Given the description of an element on the screen output the (x, y) to click on. 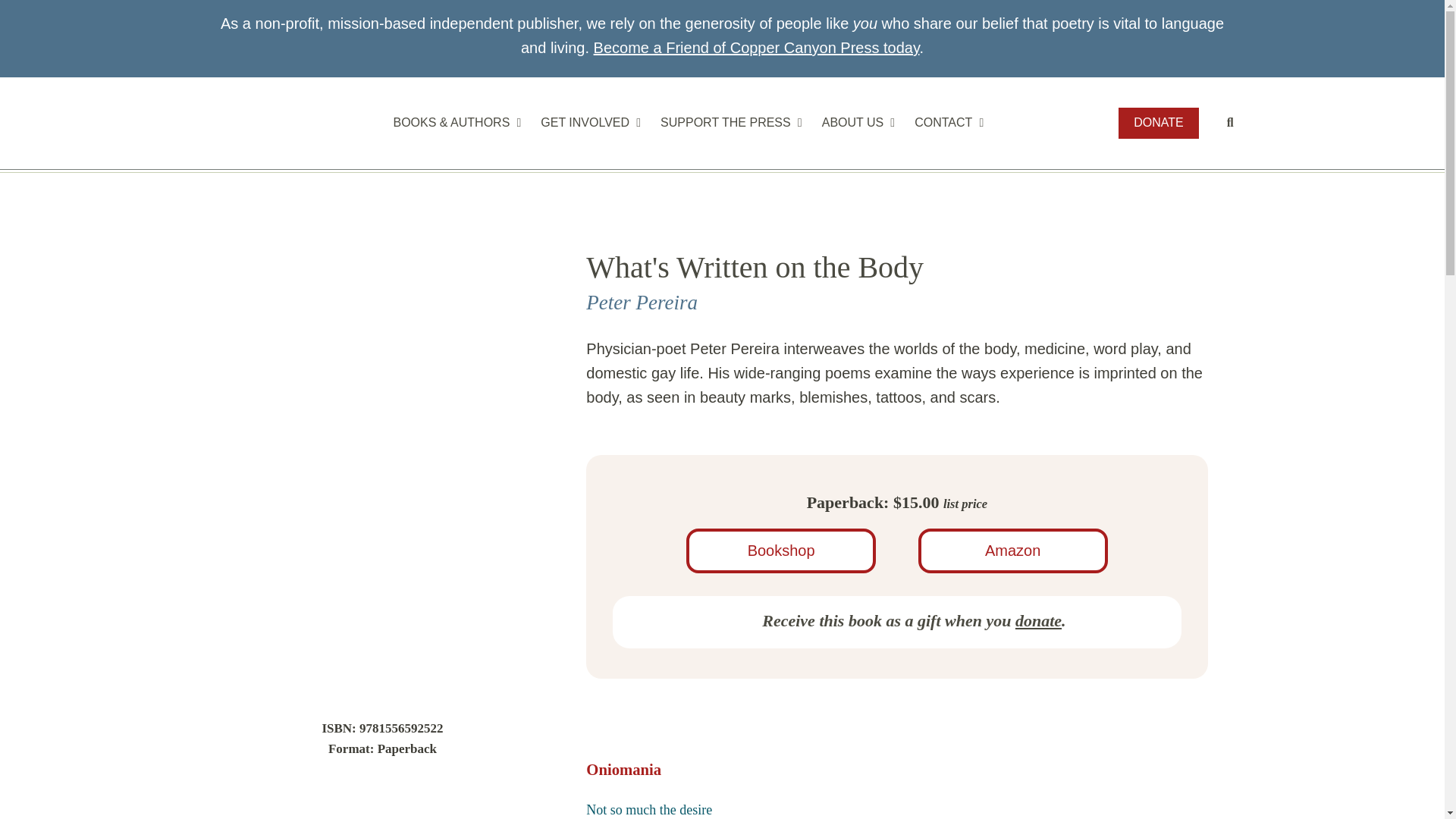
CONTACT (946, 122)
Bookshop (780, 550)
Copper Canyon Press (280, 124)
Amazon (1013, 550)
DONATE (1158, 122)
Peter Pereira (641, 302)
SUPPORT THE PRESS (728, 122)
Become a Friend of Copper Canyon Press today (757, 47)
Receive this book as a gift when you donate. (896, 619)
ABOUT US (855, 122)
GET INVOLVED (587, 122)
